Given the description of an element on the screen output the (x, y) to click on. 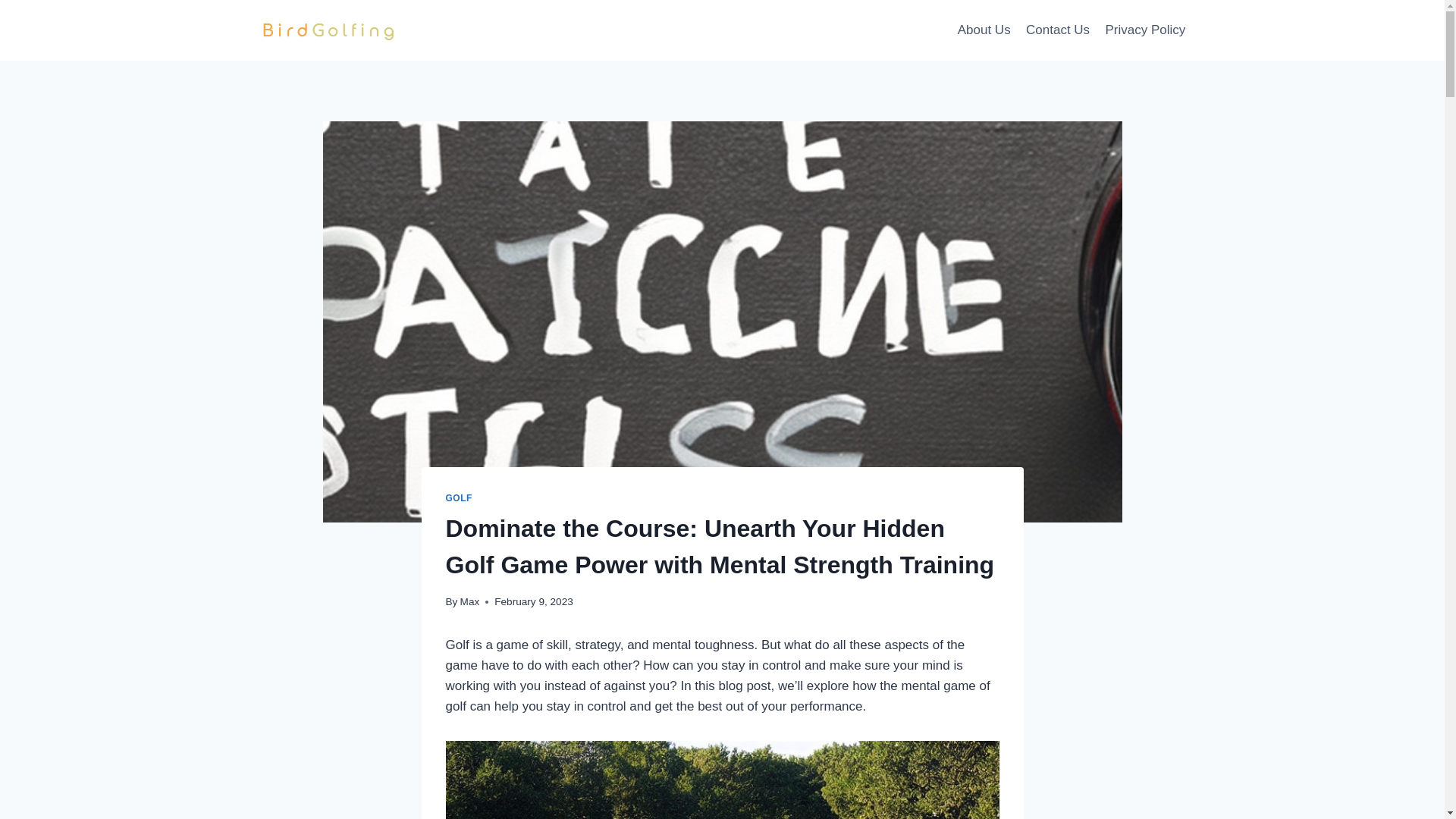
Privacy Policy (1144, 30)
Contact Us (1057, 30)
Max (470, 601)
About Us (983, 30)
GOLF (458, 498)
